Given the description of an element on the screen output the (x, y) to click on. 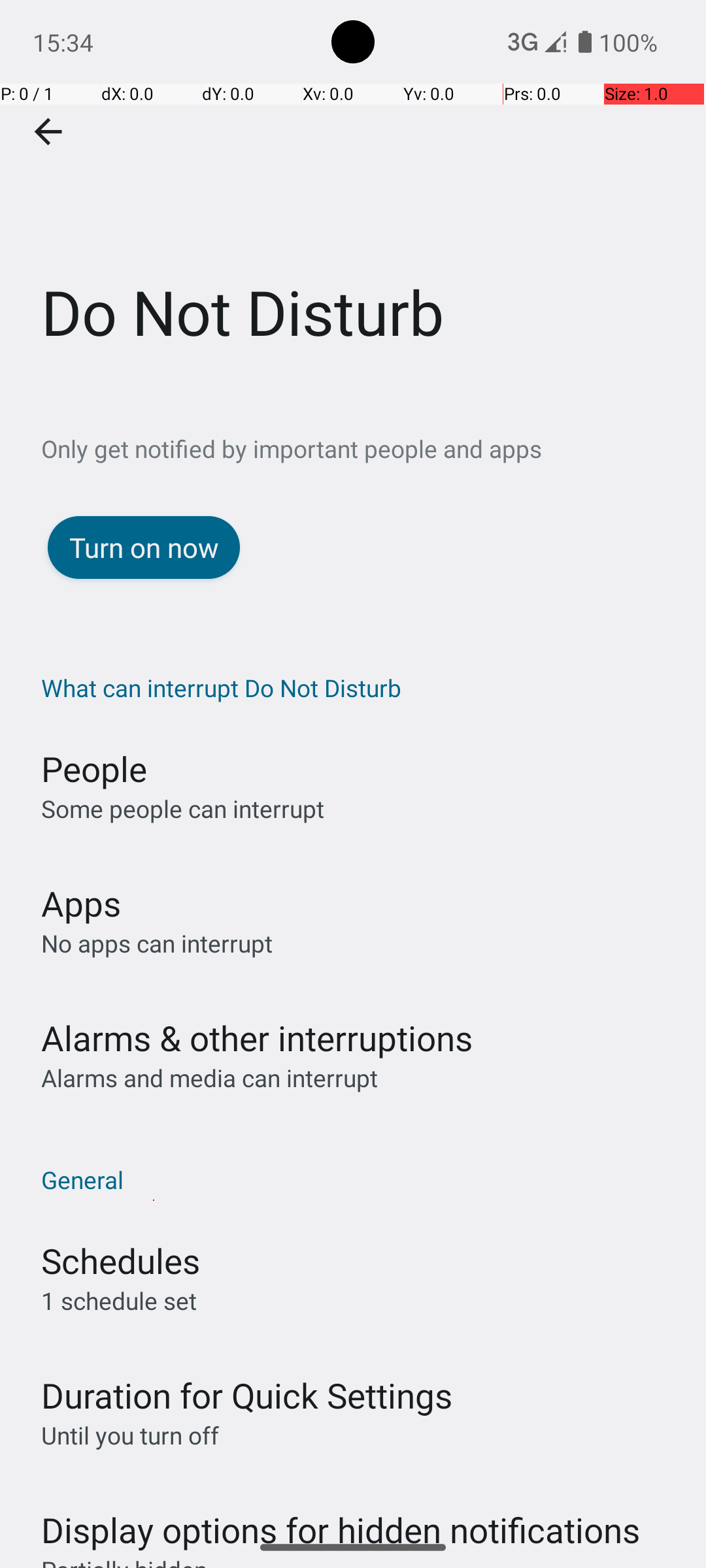
Only get notified by important people and apps Element type: android.widget.TextView (373, 448)
Turn on now Element type: android.widget.Button (143, 547)
What can interrupt Do Not Disturb Element type: android.widget.TextView (359, 687)
People Element type: android.widget.TextView (94, 768)
Some people can interrupt Element type: android.widget.TextView (182, 808)
No apps can interrupt Element type: android.widget.TextView (156, 942)
Alarms & other interruptions Element type: android.widget.TextView (256, 1037)
Alarms and media can interrupt Element type: android.widget.TextView (209, 1077)
Schedules Element type: android.widget.TextView (120, 1260)
1 schedule set Element type: android.widget.TextView (118, 1300)
Duration for Quick Settings Element type: android.widget.TextView (246, 1395)
Until you turn off Element type: android.widget.TextView (129, 1434)
Display options for hidden notifications Element type: android.widget.TextView (340, 1516)
